Given the description of an element on the screen output the (x, y) to click on. 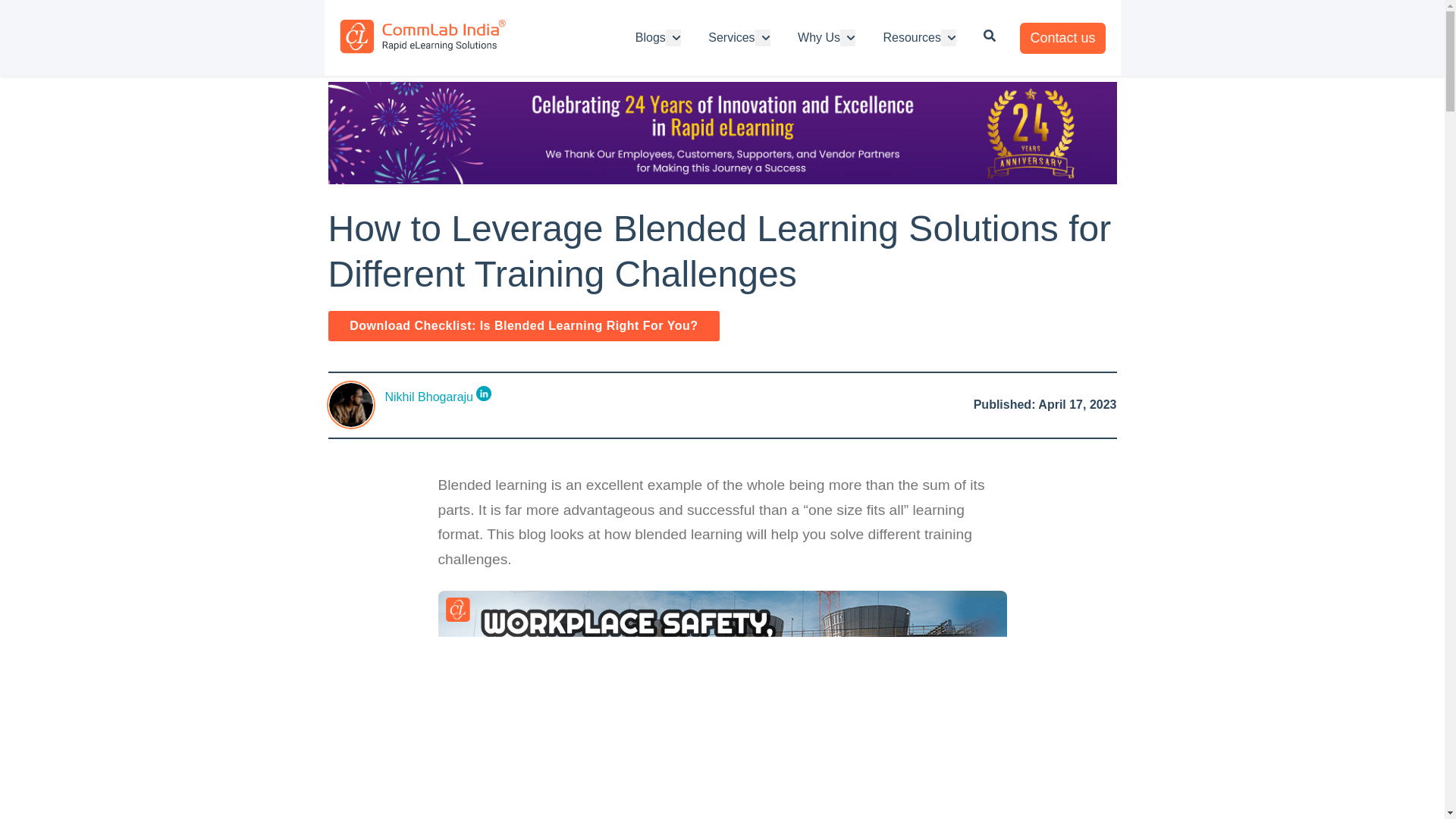
Services (730, 37)
Show submenu for Services (762, 37)
Show submenu for Why Us (848, 37)
Download Checklist: Is Blended Learning Right For You? (523, 325)
Resources (911, 37)
Show submenu for Resources (948, 37)
Blogs (649, 37)
Why Us (818, 37)
Show submenu for Blogs (673, 37)
